Given the description of an element on the screen output the (x, y) to click on. 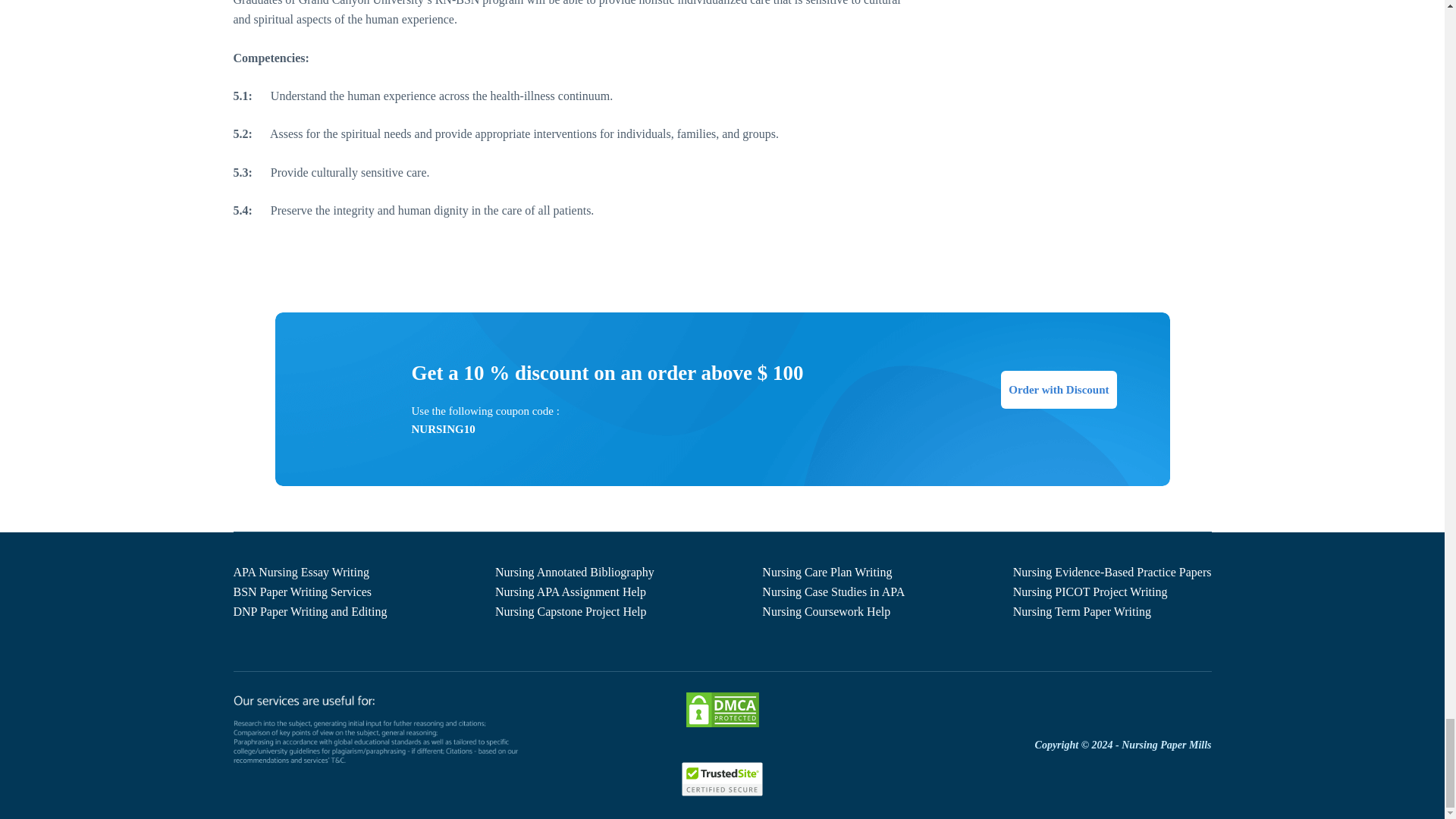
Nursing Coursework Help (825, 611)
Order with Discount (1058, 389)
BSN Paper Writing Services (302, 591)
Nursing Evidence-Based Practice Papers (1112, 571)
Nursing Case Studies in APA (832, 591)
Nursing APA Assignment Help (570, 591)
Nursing Capstone Project Help (570, 611)
APA Nursing Essay Writing (300, 571)
Nursing Care Plan Writing (826, 571)
DNP Paper Writing and Editing (309, 611)
Nursing Annotated Bibliography (574, 571)
